Given the description of an element on the screen output the (x, y) to click on. 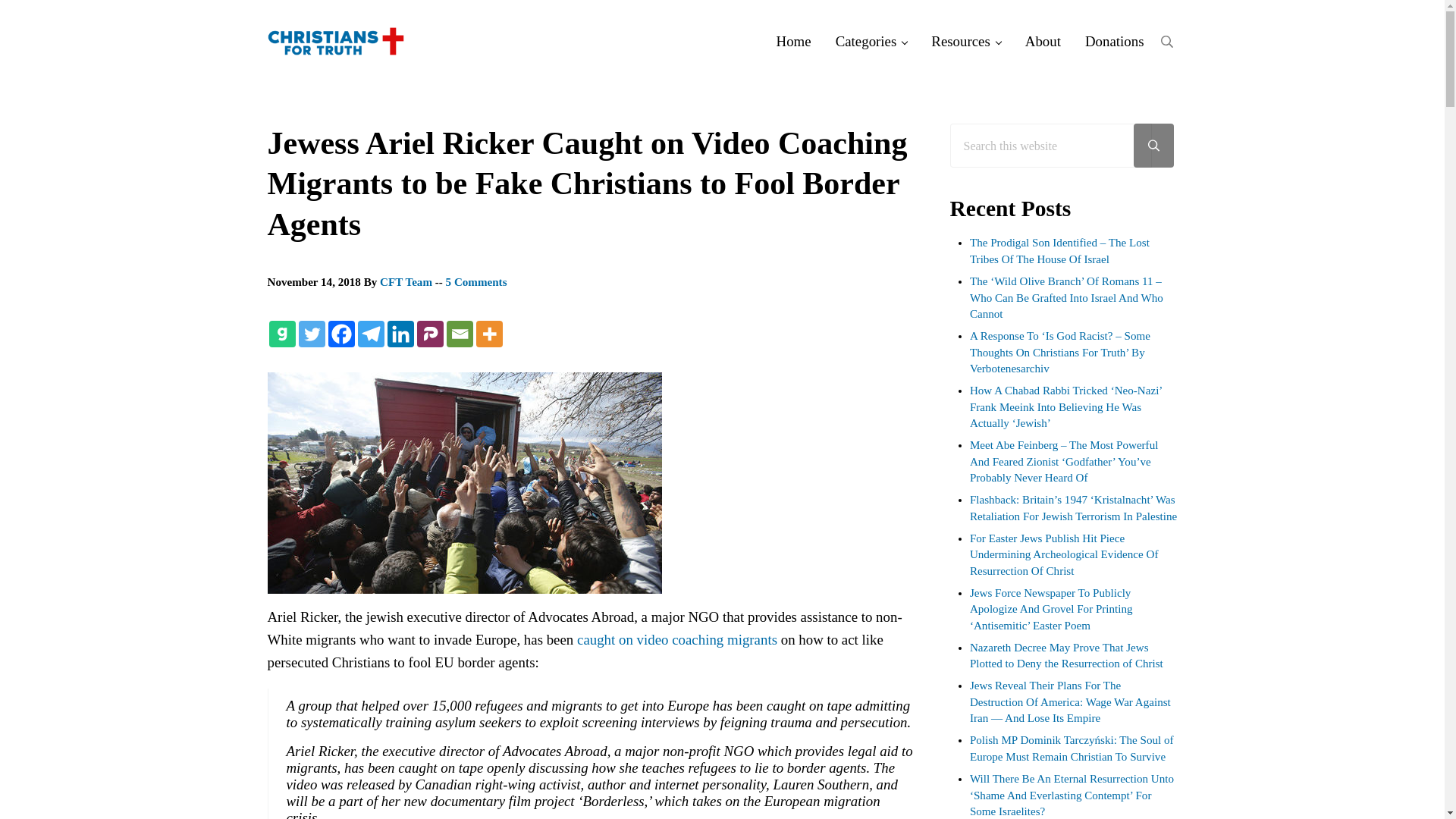
More (489, 334)
Donations (1114, 41)
Resources (965, 41)
Categories (872, 41)
Telegram (371, 334)
Facebook (340, 334)
Gab (281, 334)
Twitter (311, 334)
Email (458, 334)
Parler (430, 334)
Linkedin (400, 334)
Home (794, 41)
About (1043, 41)
